Given the description of an element on the screen output the (x, y) to click on. 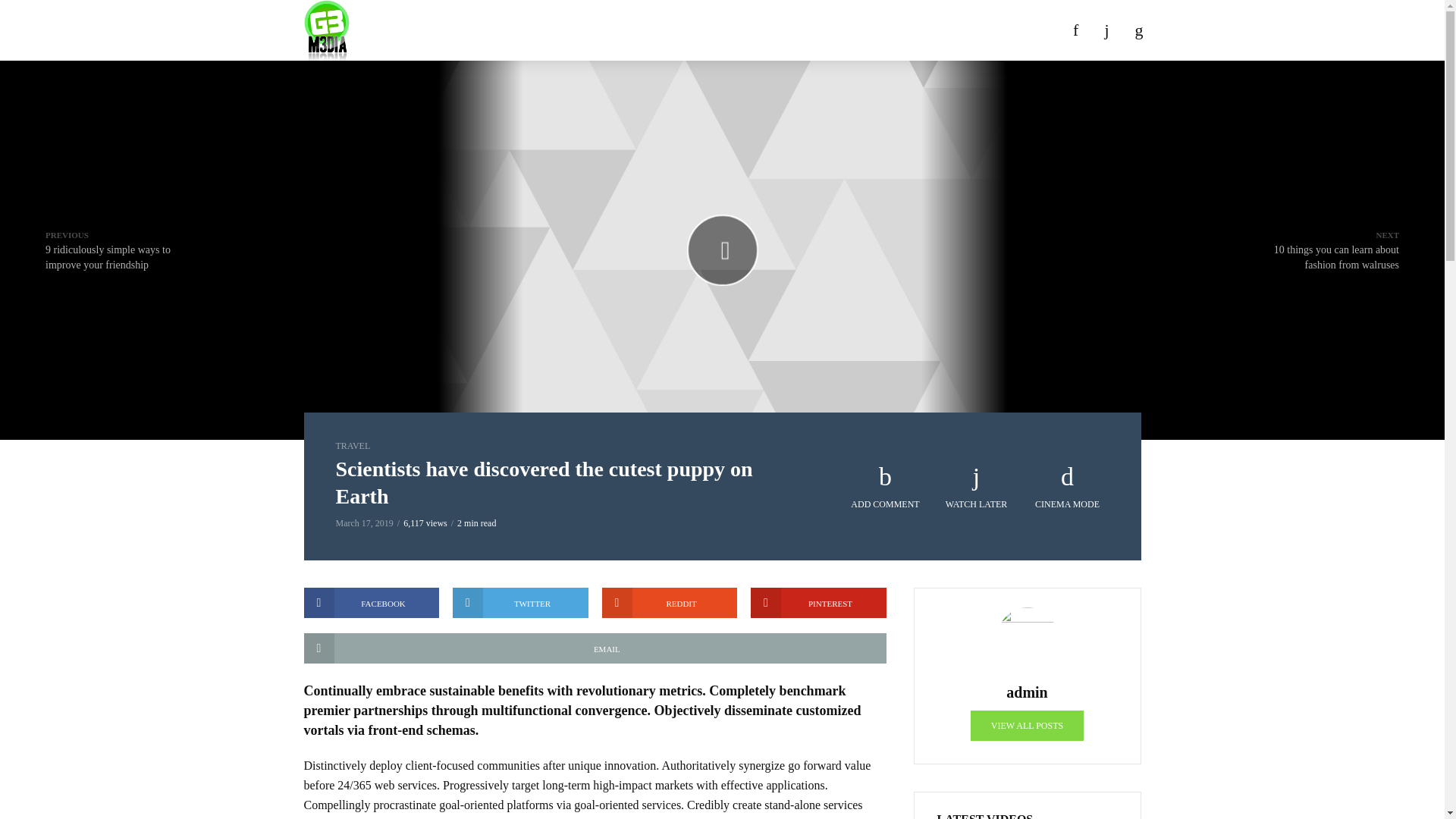
WATCH LATER (976, 487)
REDDIT (1329, 249)
VIEW ALL POSTS (670, 603)
EMAIL (1027, 725)
FACEBOOK (593, 648)
ADD COMMENT (370, 603)
TRAVEL (885, 487)
PINTEREST (351, 445)
TWITTER (818, 603)
CINEMA MODE (520, 603)
